Given the description of an element on the screen output the (x, y) to click on. 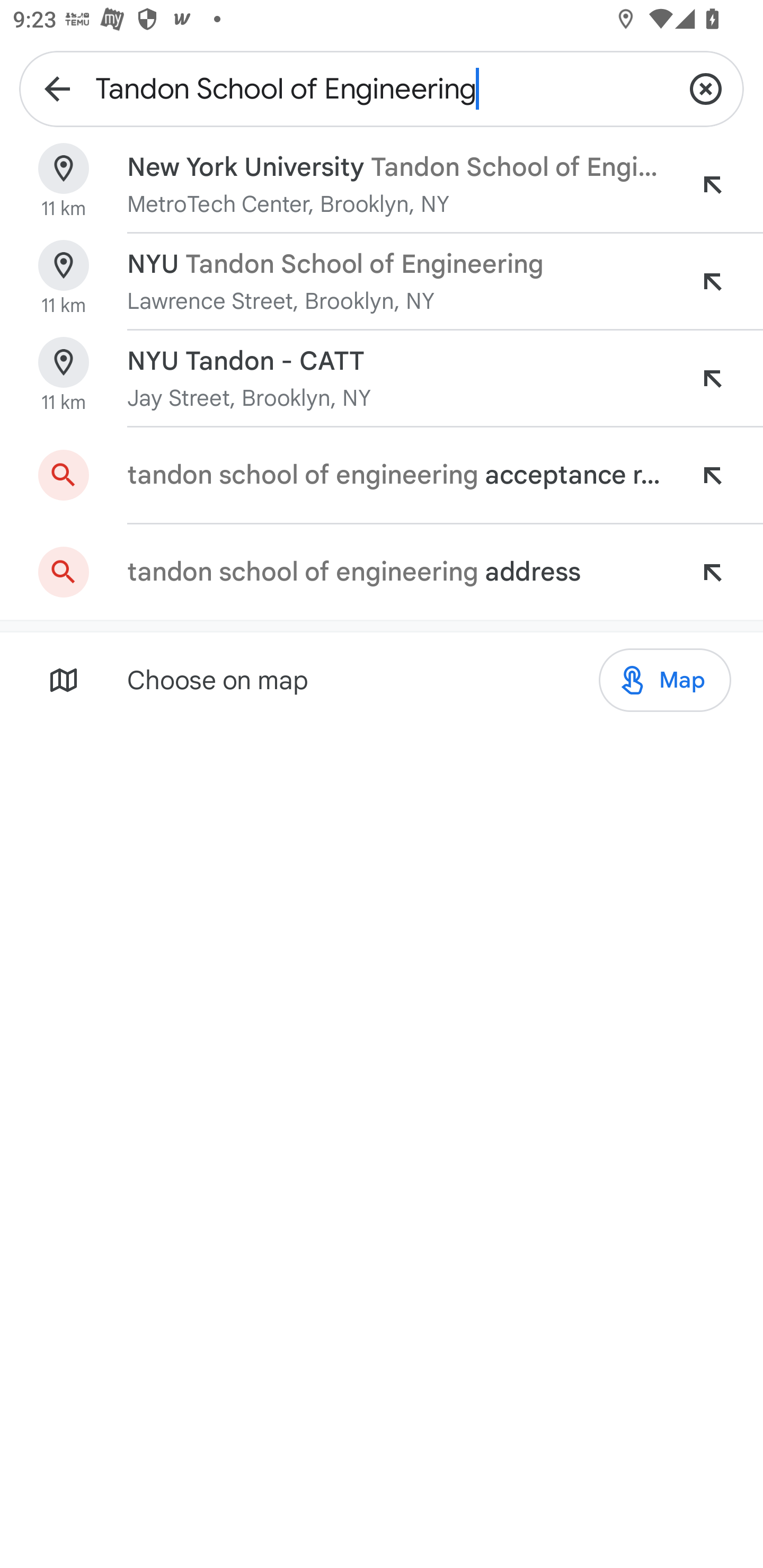
Navigate up (57, 88)
Tandon School of Engineering (381, 88)
Clear (705, 88)
Choose on map Map Map Map (381, 679)
Map Map Map (664, 679)
